Given the description of an element on the screen output the (x, y) to click on. 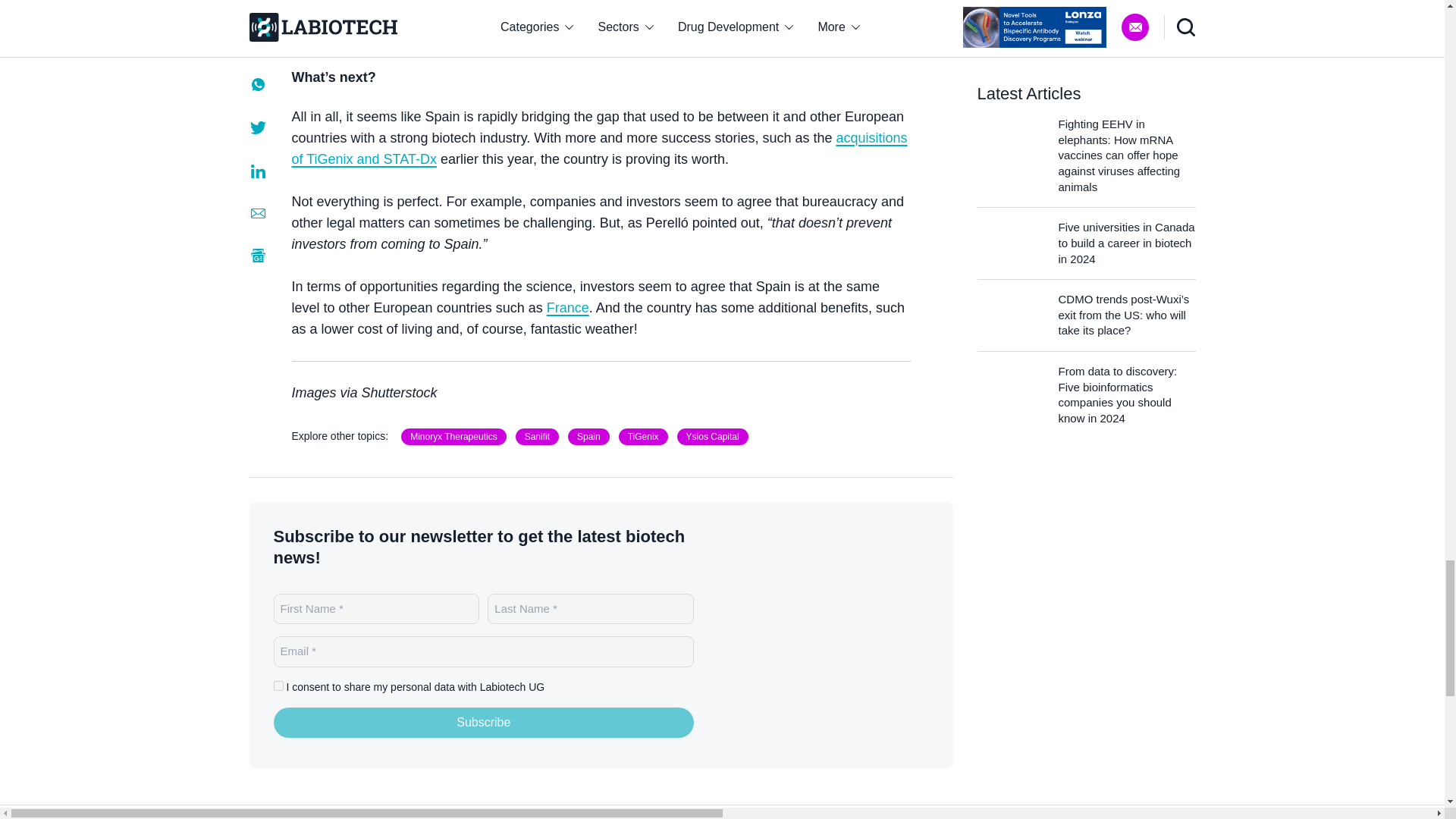
Subscribe (483, 722)
Labiotech.eu (834, 635)
1 (277, 685)
France (568, 307)
